Given the description of an element on the screen output the (x, y) to click on. 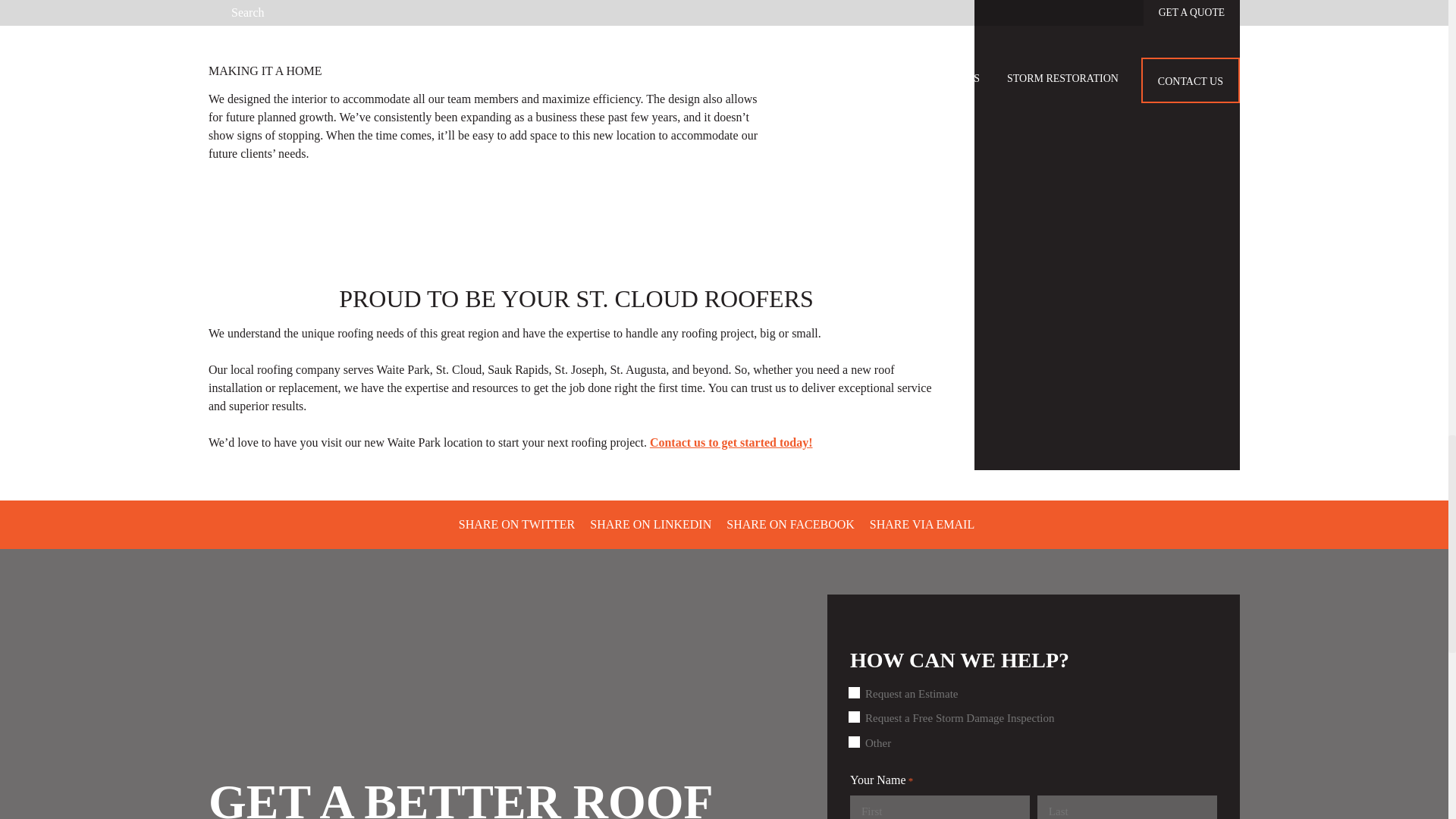
Request a Free Storm Damage Inspection (857, 717)
Other (857, 742)
Request an Estimate (857, 693)
